Given the description of an element on the screen output the (x, y) to click on. 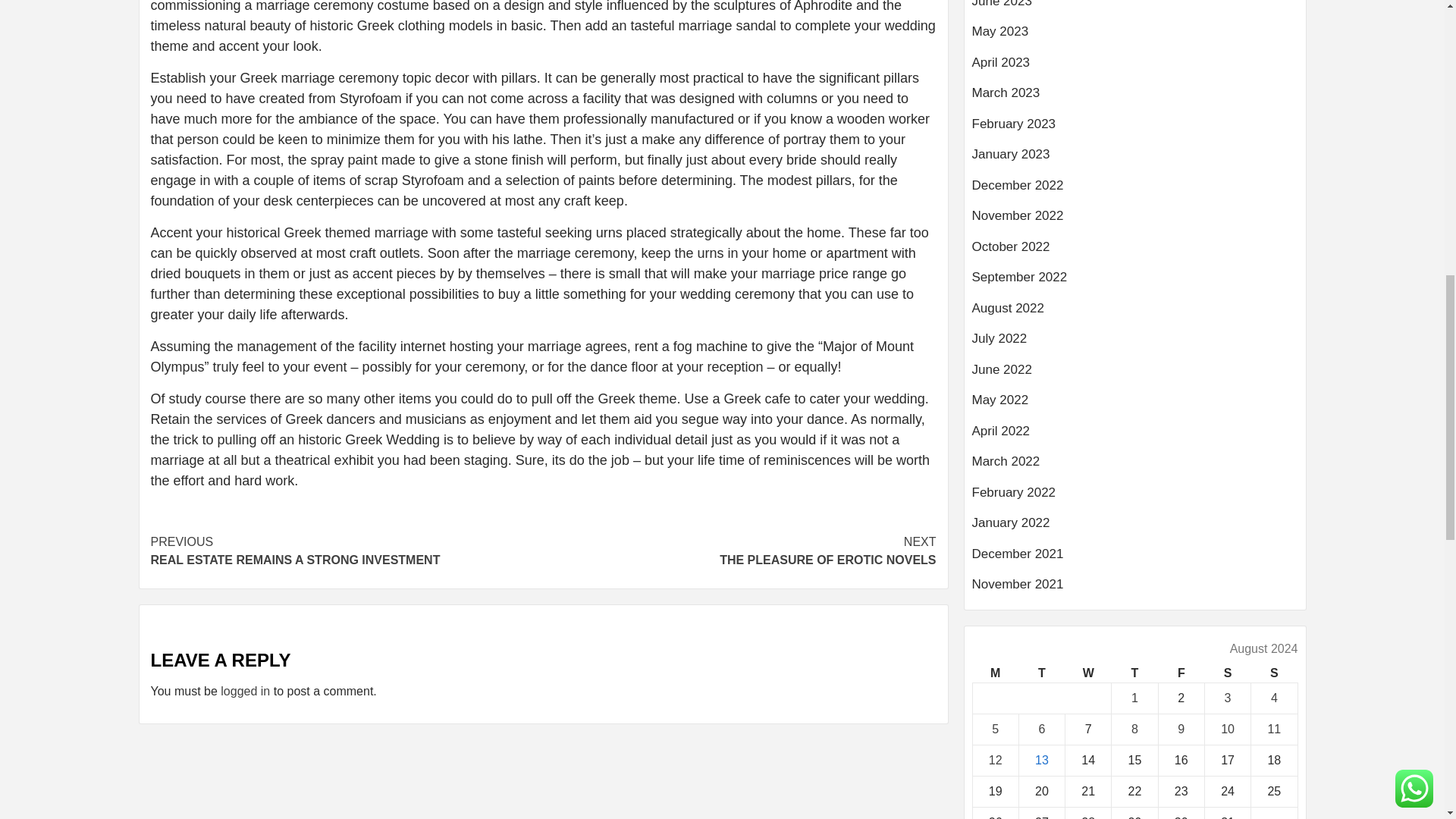
logged in (245, 690)
Monday (994, 673)
Friday (1180, 673)
Tuesday (1040, 673)
Wednesday (1088, 673)
May 2023 (346, 551)
June 2023 (1135, 37)
Thursday (1135, 11)
